Given the description of an element on the screen output the (x, y) to click on. 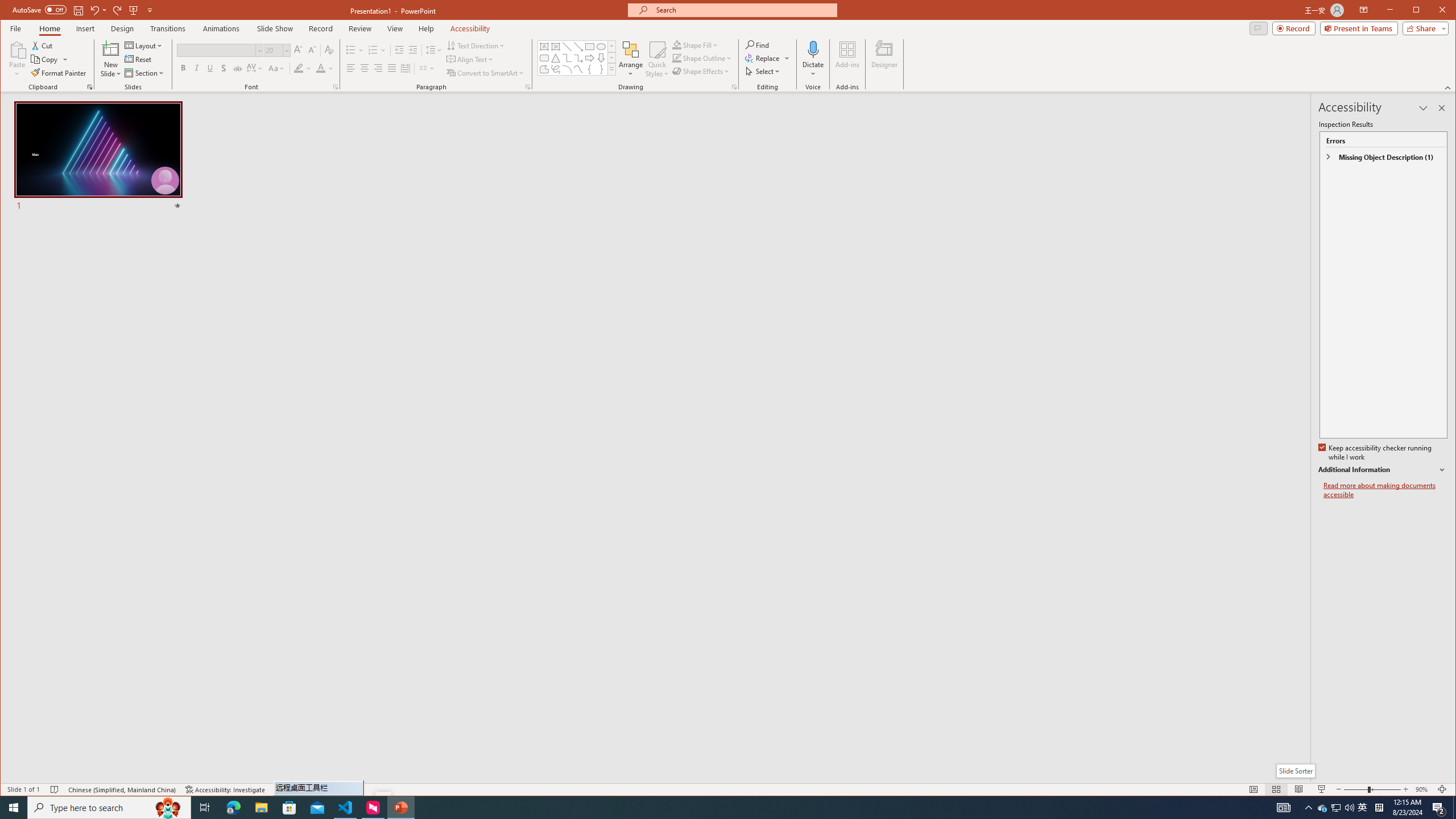
Text Highlight Color Yellow (298, 68)
Freeform: Scribble (556, 69)
Format Painter (59, 72)
Font Color (324, 68)
AutomationID: 4105 (1283, 807)
Zoom 90% (1422, 789)
Show desktop (1454, 807)
Font Color Red (320, 68)
Center (364, 68)
